Given the description of an element on the screen output the (x, y) to click on. 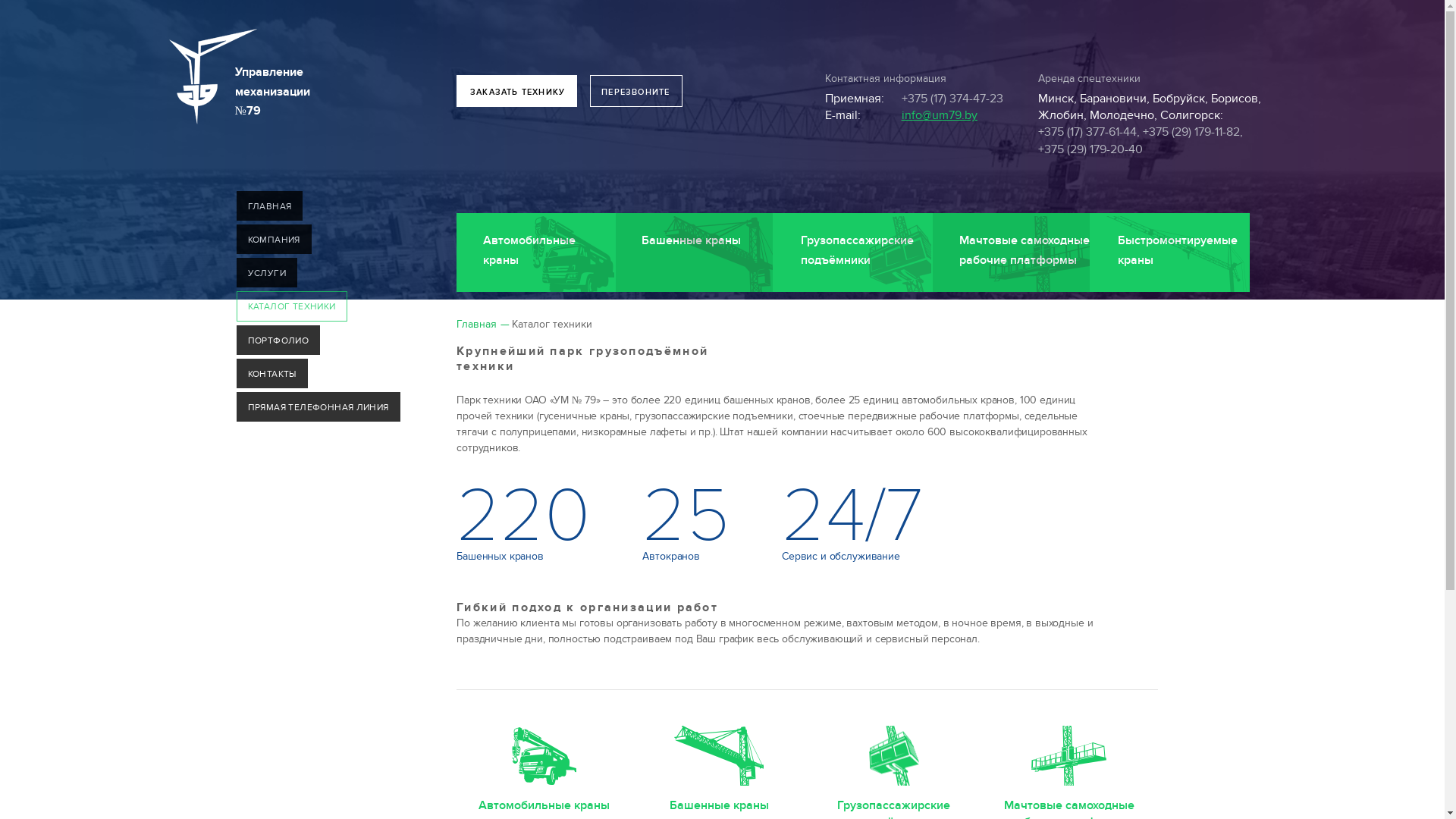
info@um79.by Element type: text (939, 114)
+375 (17) 374-47-23 Element type: text (952, 98)
+375 (17) 377-61-44 Element type: text (1087, 131)
+375 (29) 179-20-40 Element type: text (1090, 148)
+375 (29) 179-11-82 Element type: text (1190, 131)
